Given the description of an element on the screen output the (x, y) to click on. 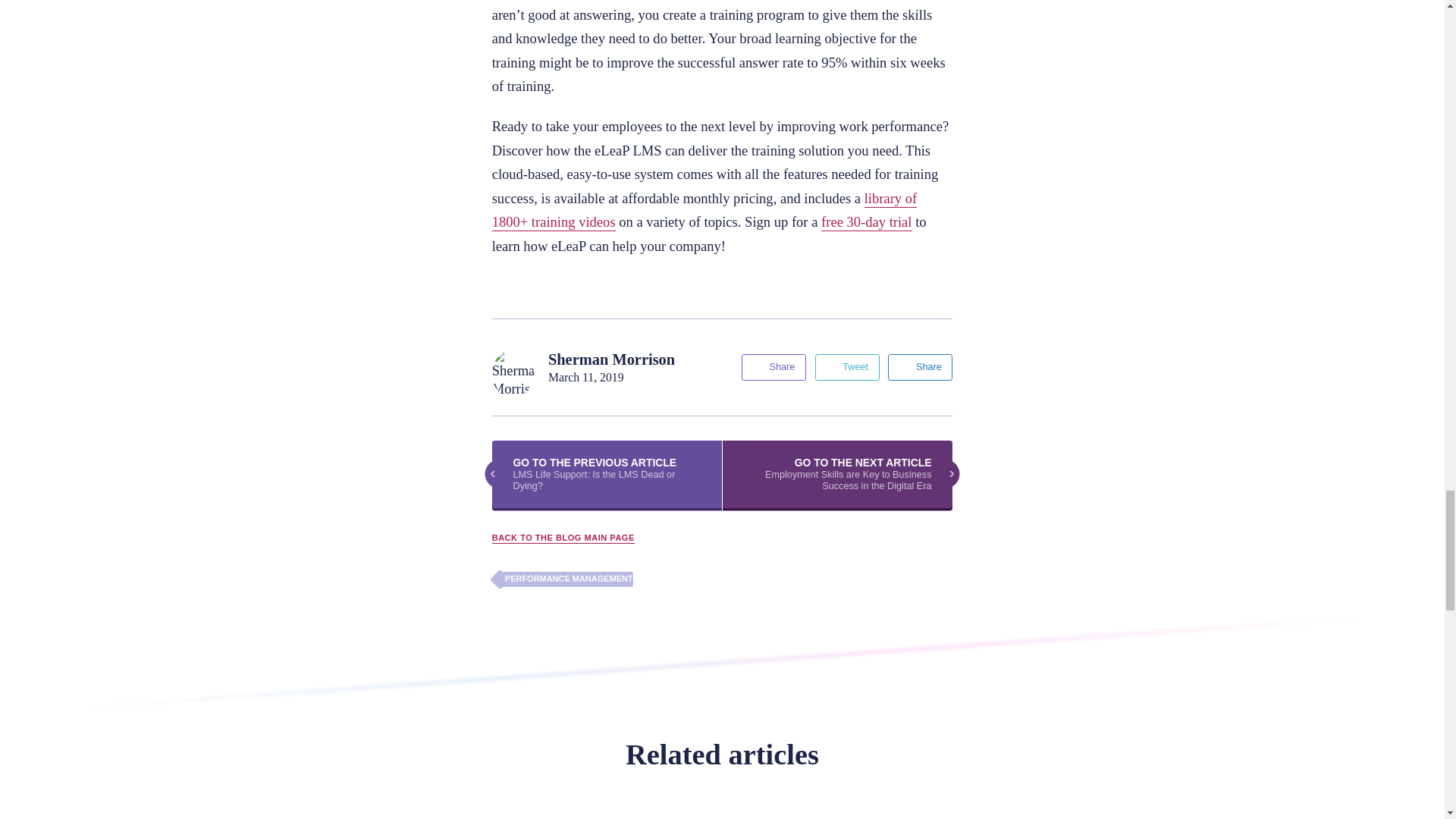
free 30-day trial (866, 221)
Tweet (847, 366)
Share (920, 366)
Share (773, 366)
